Given the description of an element on the screen output the (x, y) to click on. 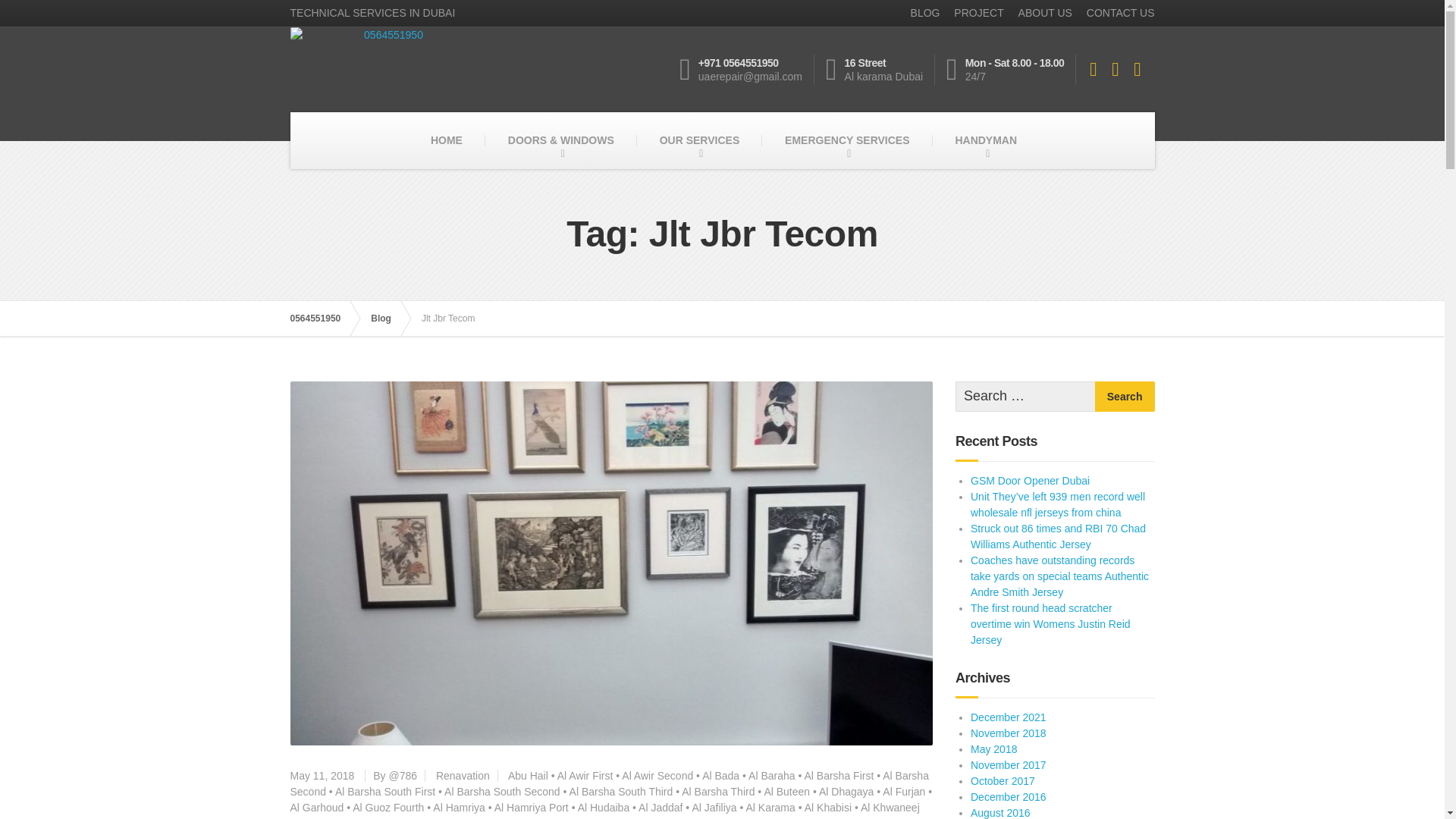
Go to 0564551950. (322, 318)
CONTACT US (1114, 13)
PROJECT (972, 13)
Go to Blog. (388, 318)
ABOUT US (1039, 13)
Search (1124, 396)
Search (1124, 396)
HOME (445, 140)
BLOG (919, 13)
